Given the description of an element on the screen output the (x, y) to click on. 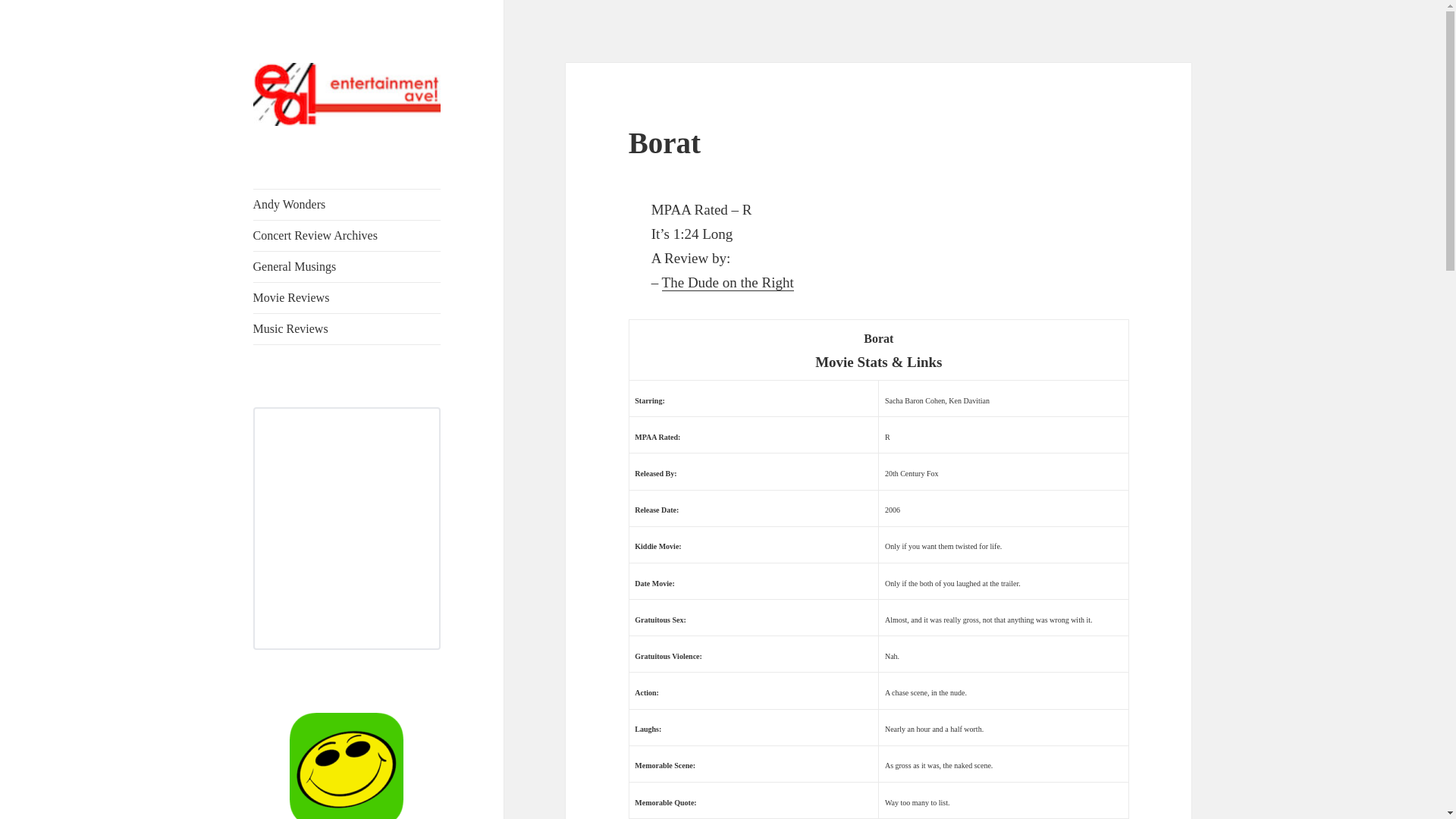
The Dude on the Right (727, 282)
Concert Review Archives (347, 235)
Music Reviews (347, 328)
Entertainment Ave! (346, 149)
Movie Reviews (347, 297)
General Musings (347, 266)
Andy Wonders (347, 204)
